Given the description of an element on the screen output the (x, y) to click on. 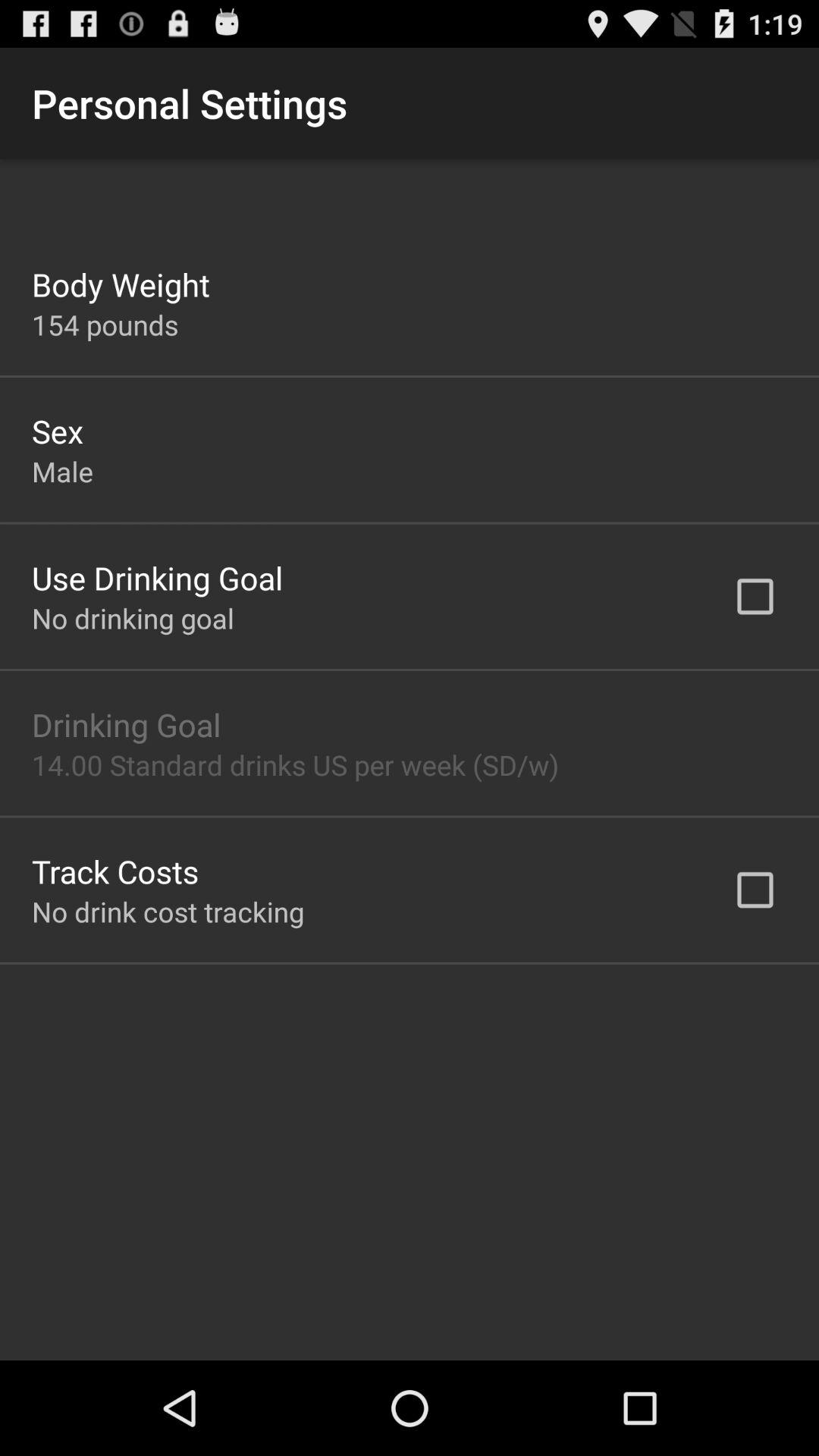
flip to 154 pounds app (104, 324)
